Given the description of an element on the screen output the (x, y) to click on. 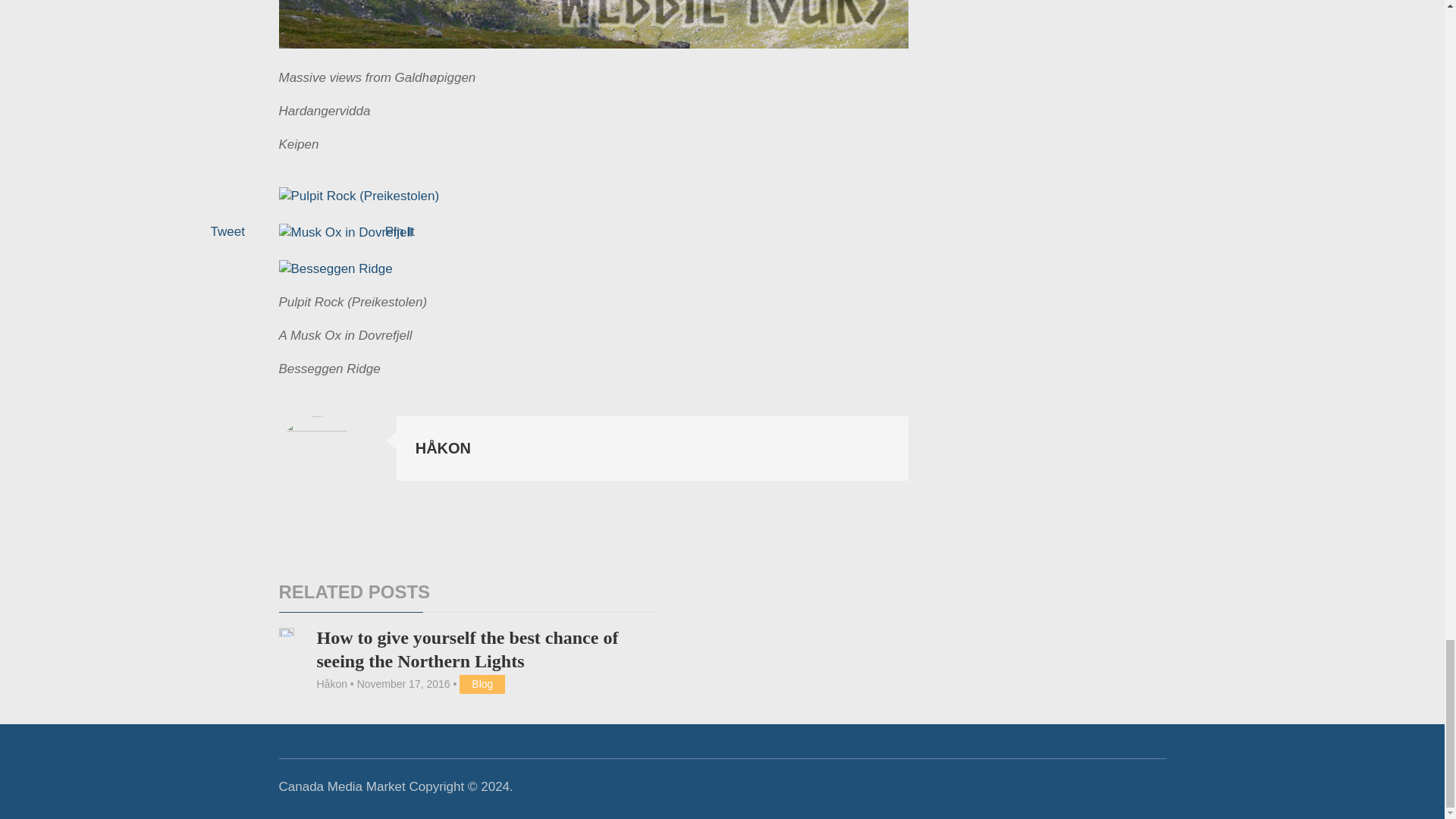
View all posts in Blog (482, 684)
Blog (482, 684)
